Given the description of an element on the screen output the (x, y) to click on. 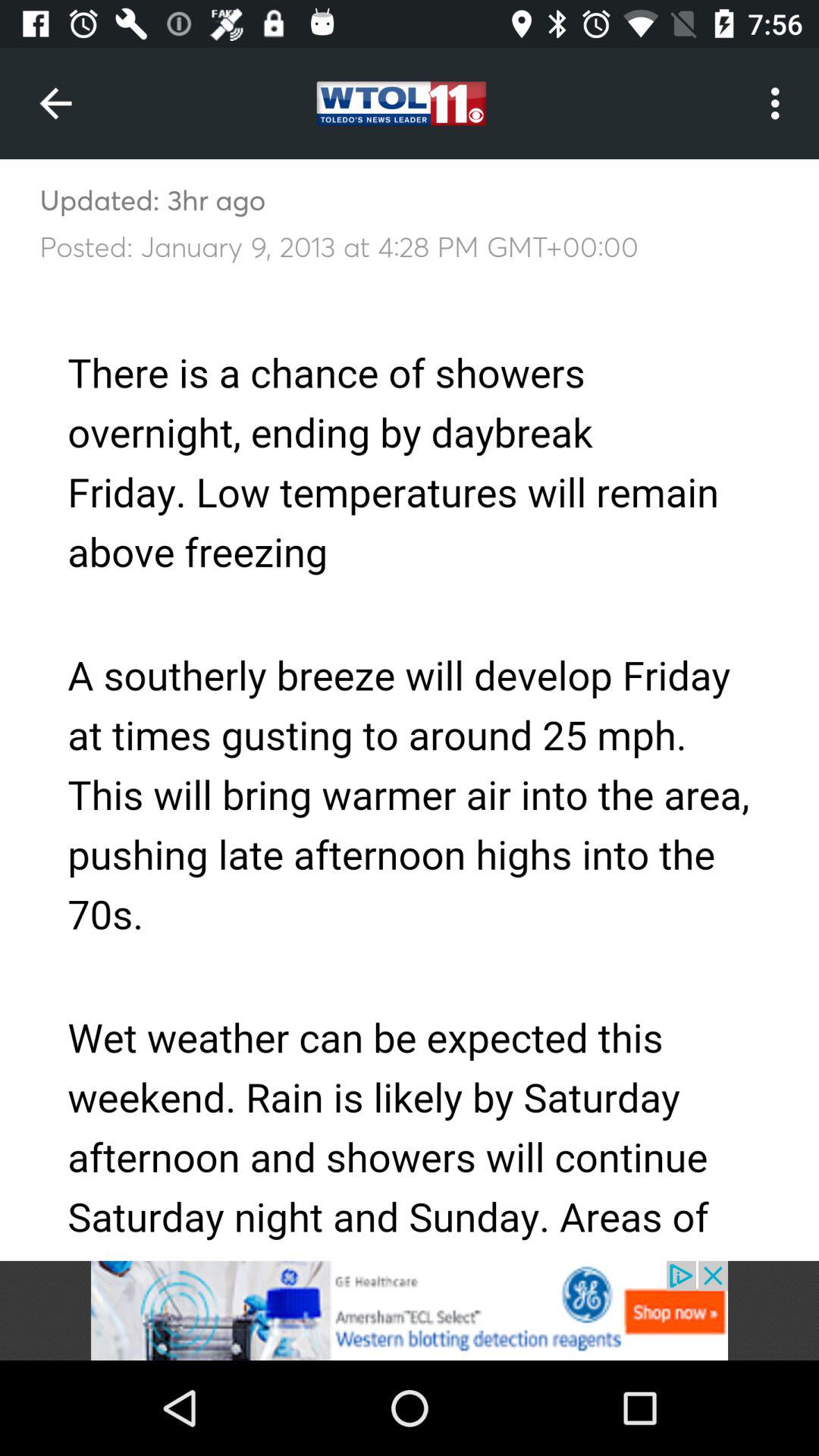
advertisement page (409, 1310)
